Given the description of an element on the screen output the (x, y) to click on. 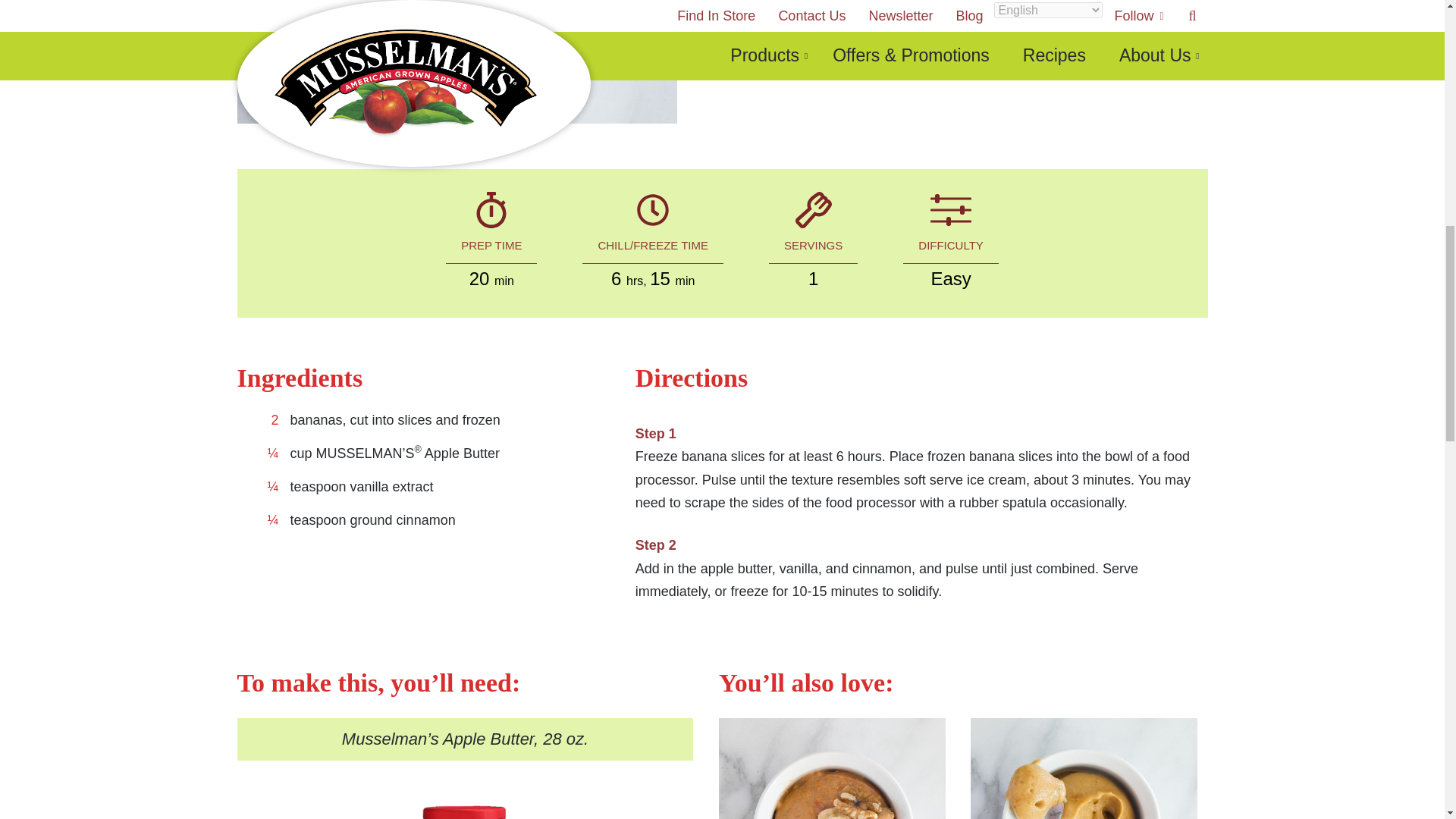
Vegan Carrot Cake Banana Soft Serve (831, 768)
